Given the description of an element on the screen output the (x, y) to click on. 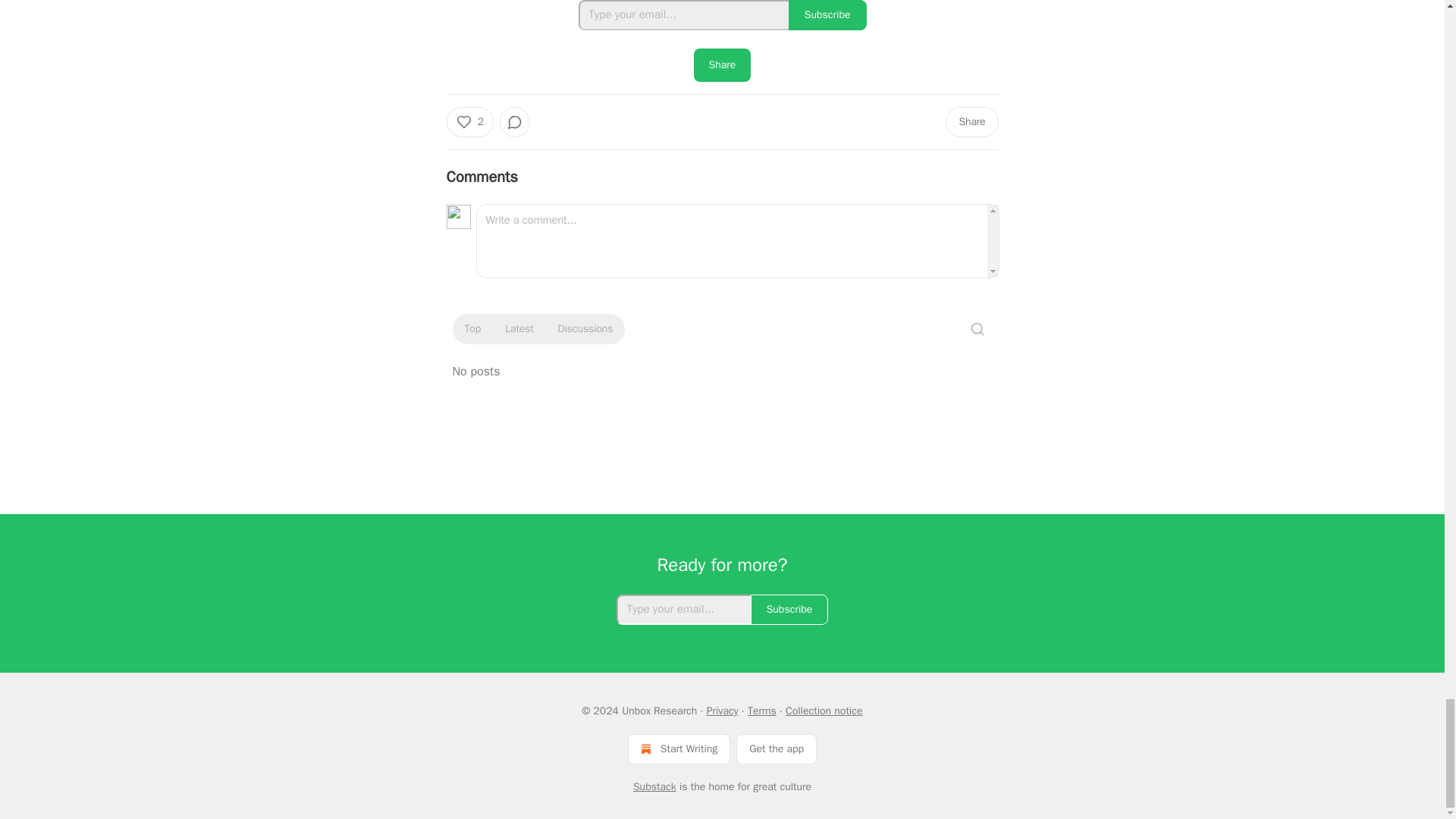
Share (722, 64)
2 (469, 122)
Subscribe (827, 15)
